Given the description of an element on the screen output the (x, y) to click on. 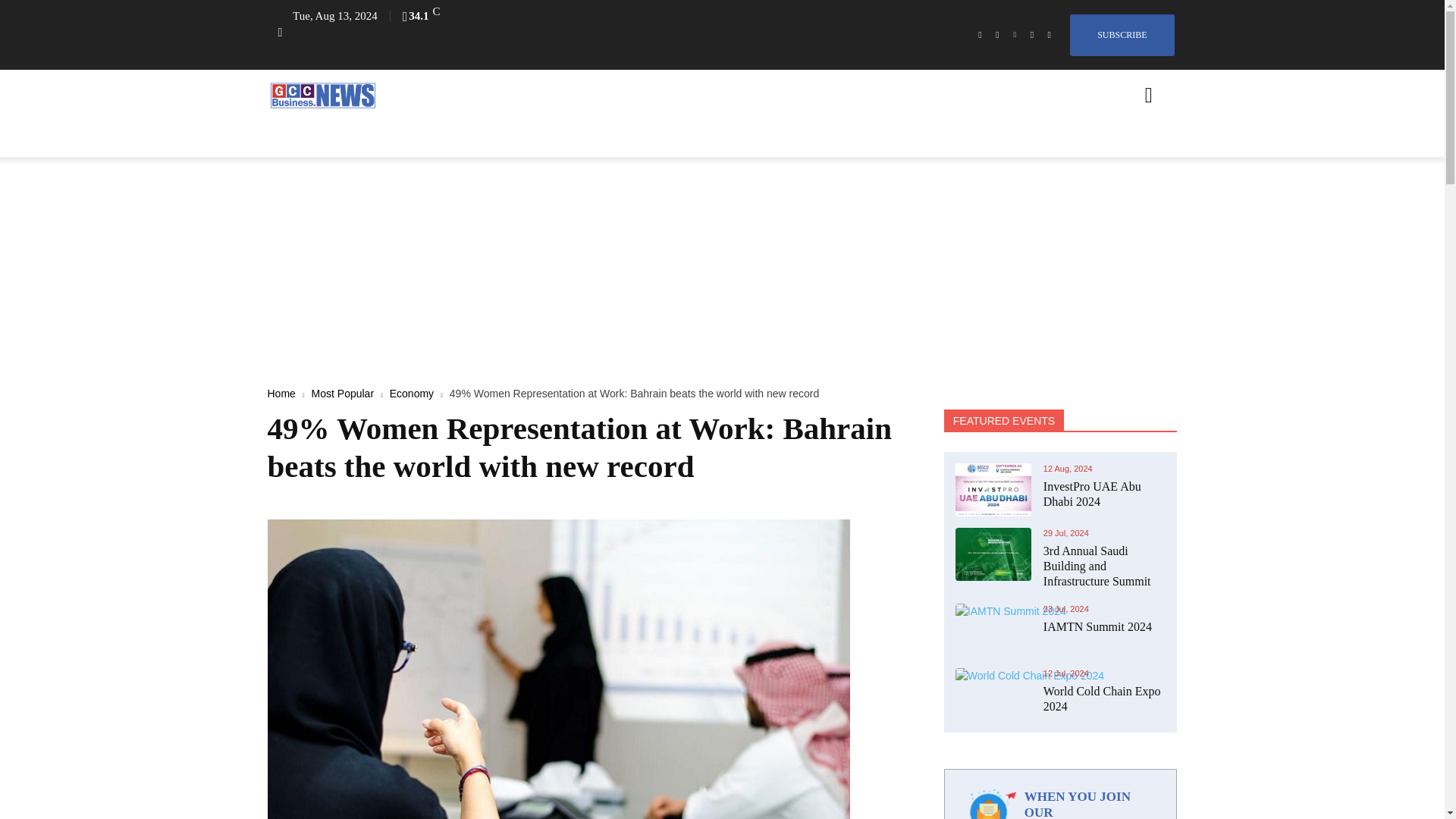
Youtube (1049, 35)
Subscribe (1121, 34)
Instagram (997, 35)
Twitter (1032, 35)
SUBSCRIBE (1121, 34)
Linkedin (1014, 35)
Facebook (979, 35)
